Given the description of an element on the screen output the (x, y) to click on. 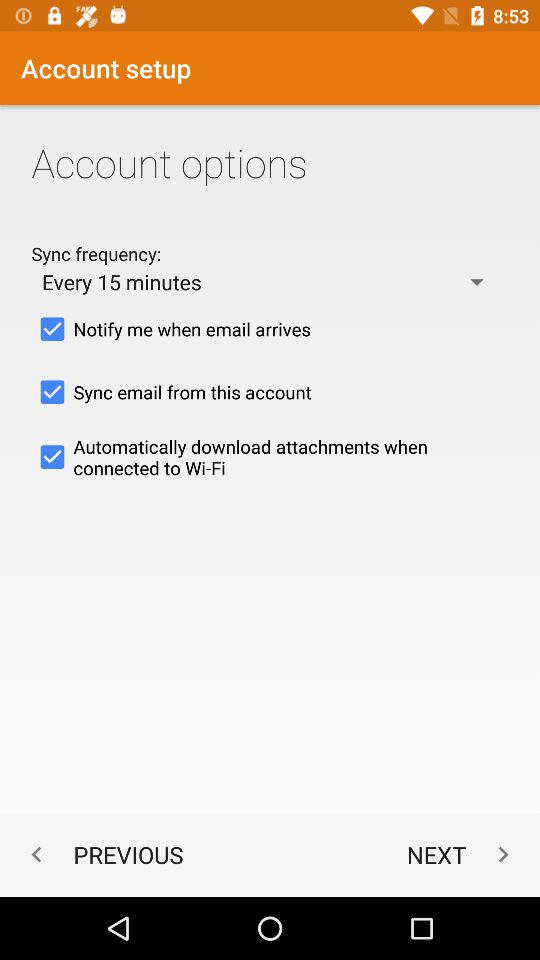
flip to the sync email from (269, 392)
